Given the description of an element on the screen output the (x, y) to click on. 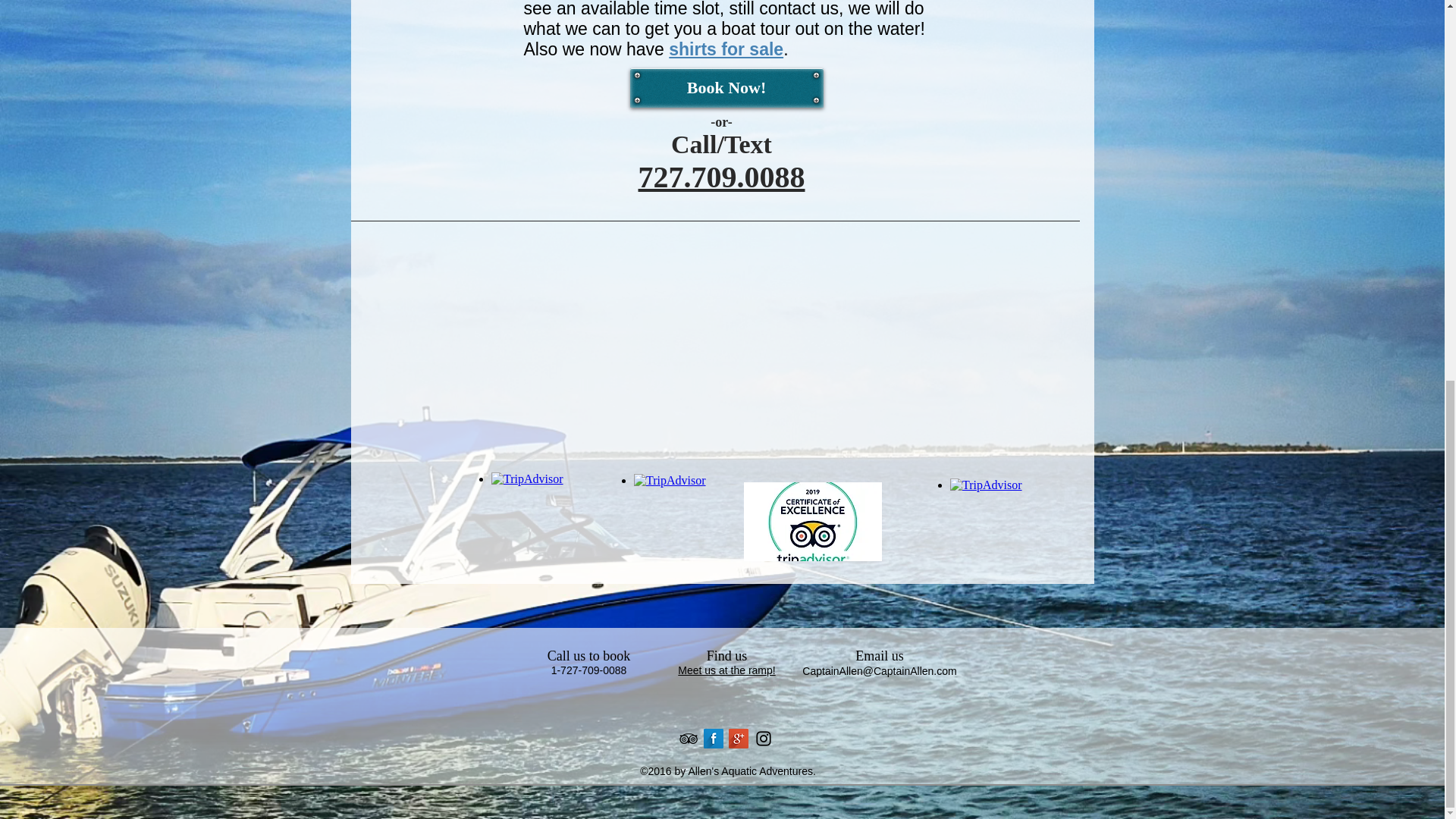
Book Now! (725, 87)
shirts for sale (725, 48)
Embedded Content (670, 521)
727.709.0088 (722, 176)
Embedded Content (983, 527)
Meet us at the ramp! (726, 670)
Embedded Content (526, 522)
